Given the description of an element on the screen output the (x, y) to click on. 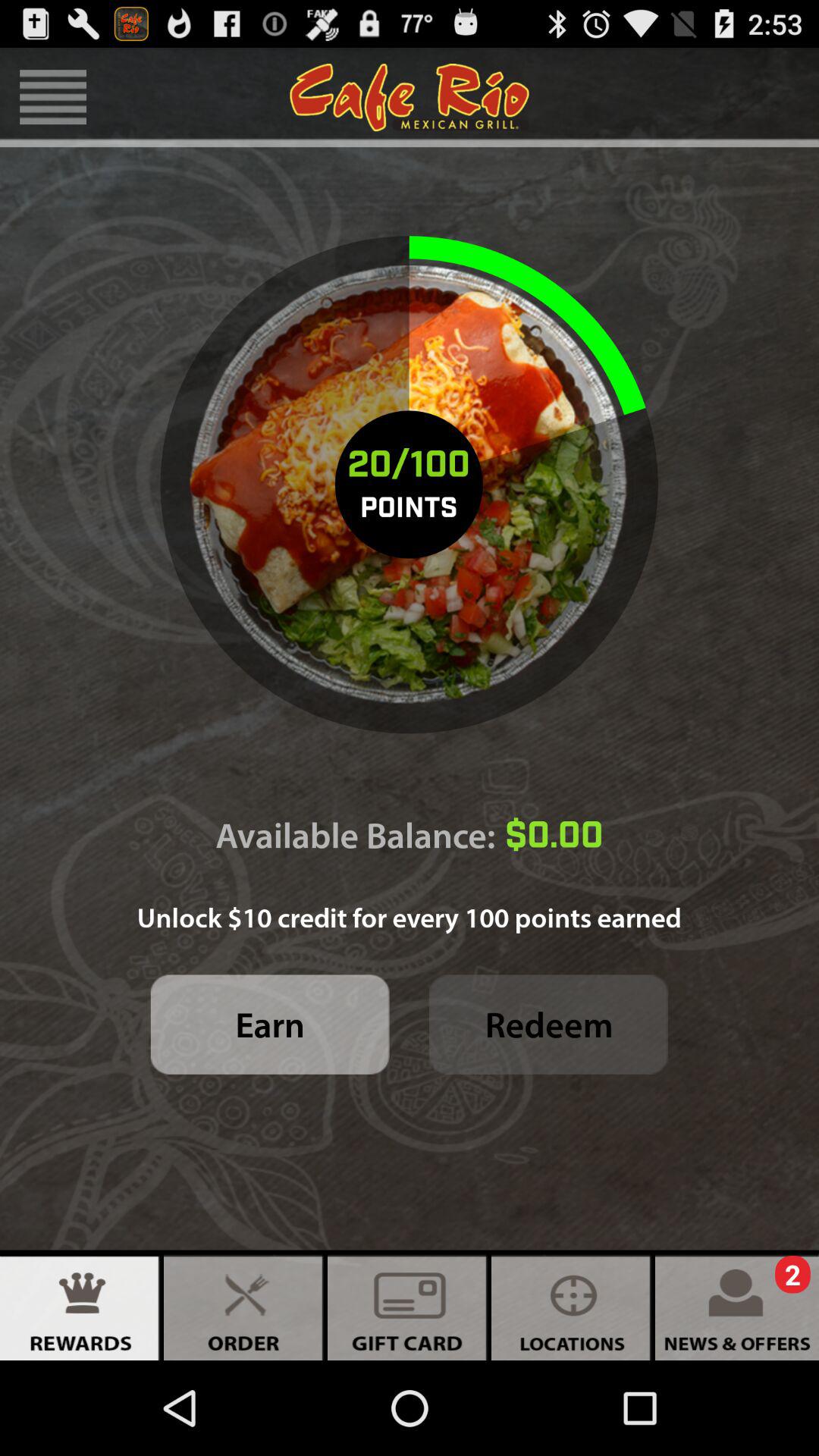
choose redeem (548, 1024)
